Given the description of an element on the screen output the (x, y) to click on. 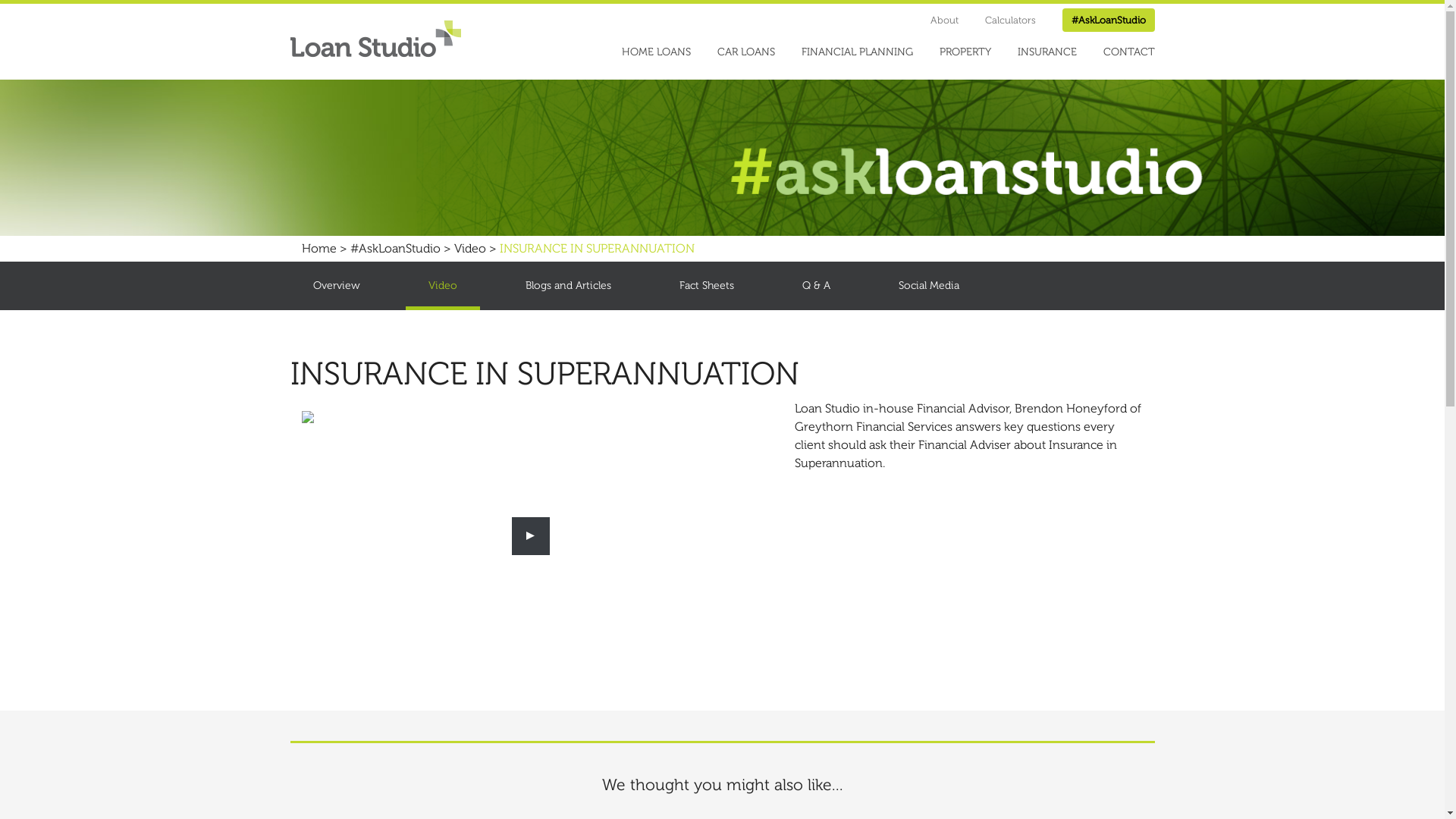
Fact Sheets Element type: text (706, 285)
Overview Element type: text (335, 285)
INSURANCE Element type: text (1046, 51)
CAR LOANS Element type: text (746, 51)
Video Element type: text (469, 248)
About Element type: text (943, 19)
Home Element type: text (318, 248)
Social Media Element type: text (927, 285)
Video Element type: text (441, 285)
PROPERTY Element type: text (964, 51)
#AskLoanStudio Element type: text (1107, 19)
#AskLoanStudio Element type: text (395, 248)
Blogs and Articles Element type: text (567, 285)
Calculators Element type: text (1009, 19)
HOME LOANS Element type: text (655, 51)
FINANCIAL PLANNING Element type: text (856, 51)
Q & A Element type: text (816, 285)
CONTACT Element type: text (1128, 51)
